Given the description of an element on the screen output the (x, y) to click on. 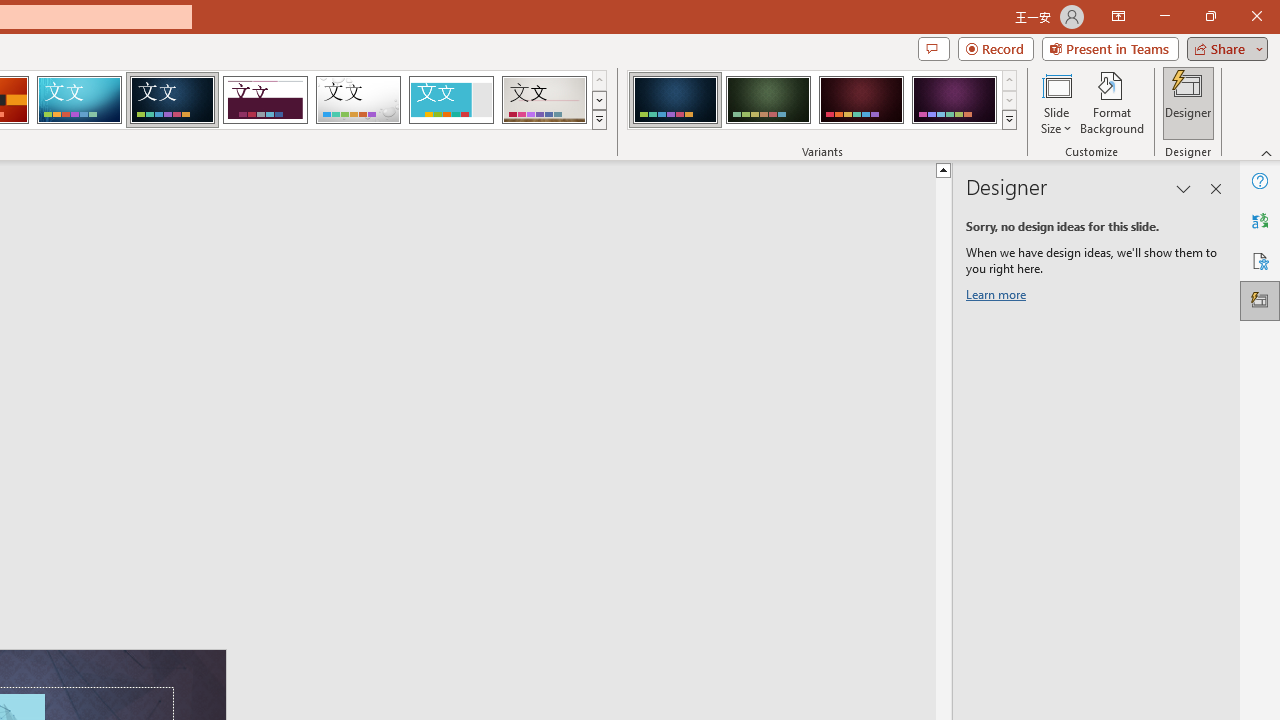
Themes (598, 120)
AutomationID: ThemeVariantsGallery (822, 99)
Dividend (265, 100)
Damask Variant 3 (861, 100)
Damask (171, 100)
